Given the description of an element on the screen output the (x, y) to click on. 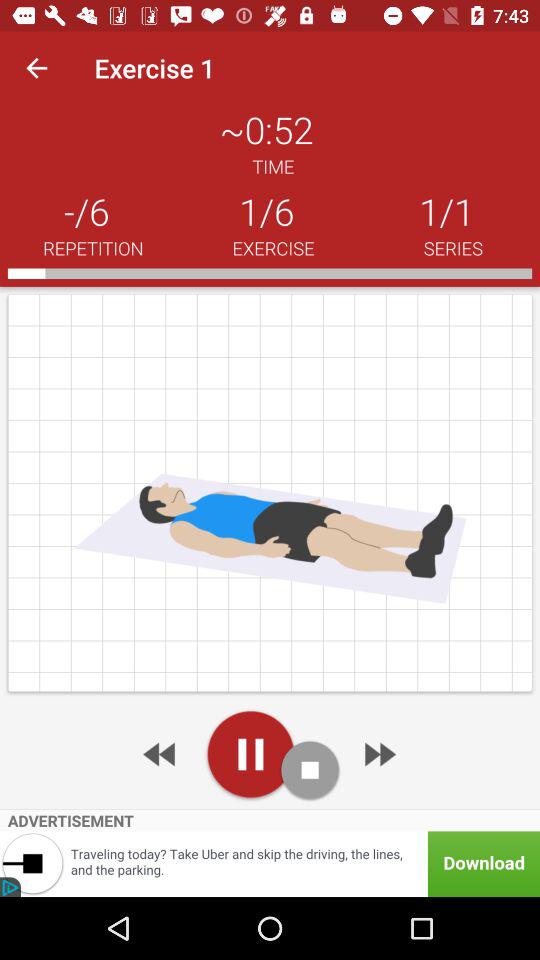
advertisement link (270, 864)
